Given the description of an element on the screen output the (x, y) to click on. 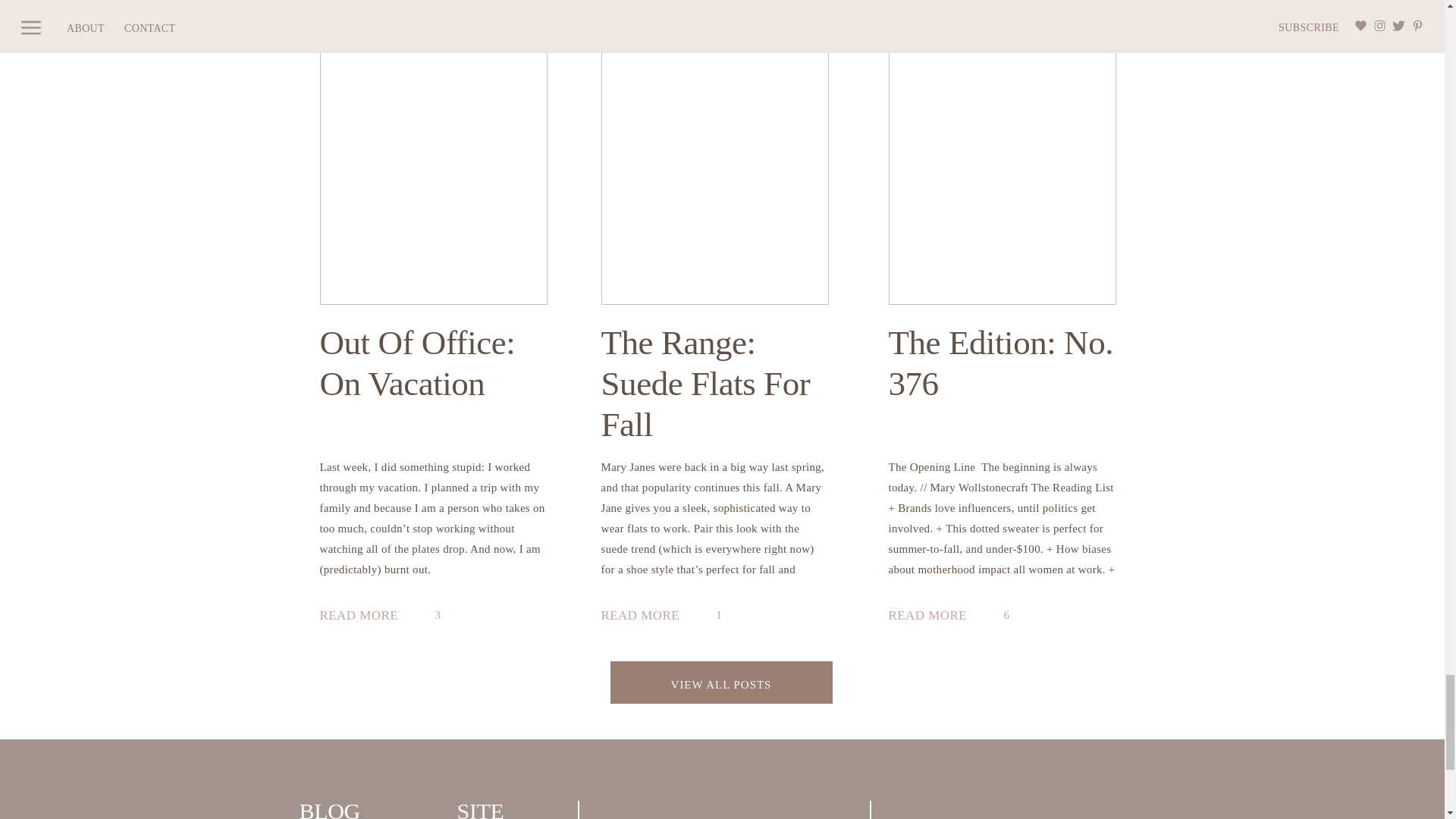
The Range: Suede Flats for Fall (646, 616)
Out of Office: On Vacation (366, 616)
The Edition: No. 376 (933, 616)
